Given the description of an element on the screen output the (x, y) to click on. 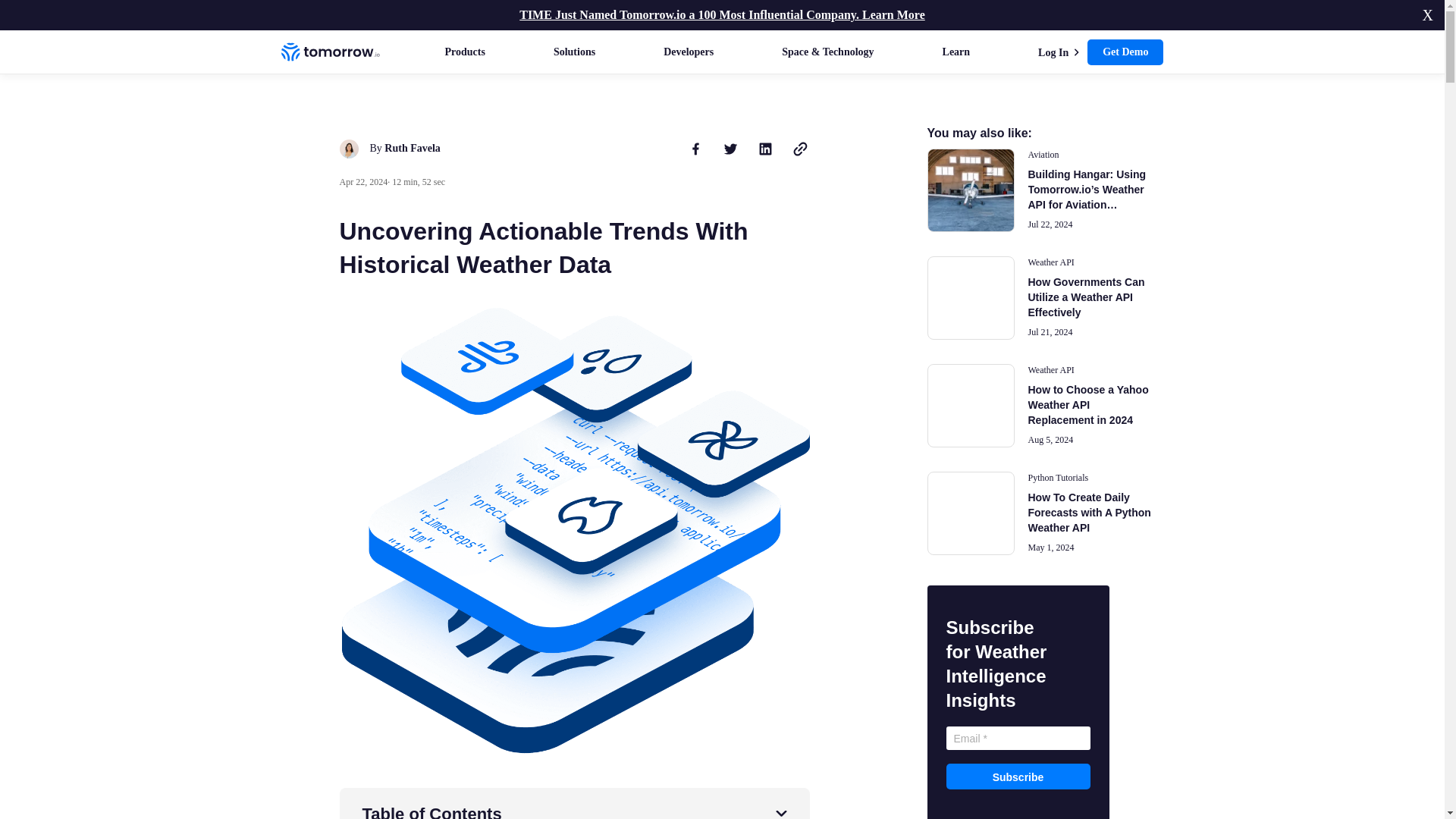
Solutions (574, 51)
Developers (688, 51)
Products (464, 51)
Back to the blog (362, 100)
Subscribe (1018, 776)
